Given the description of an element on the screen output the (x, y) to click on. 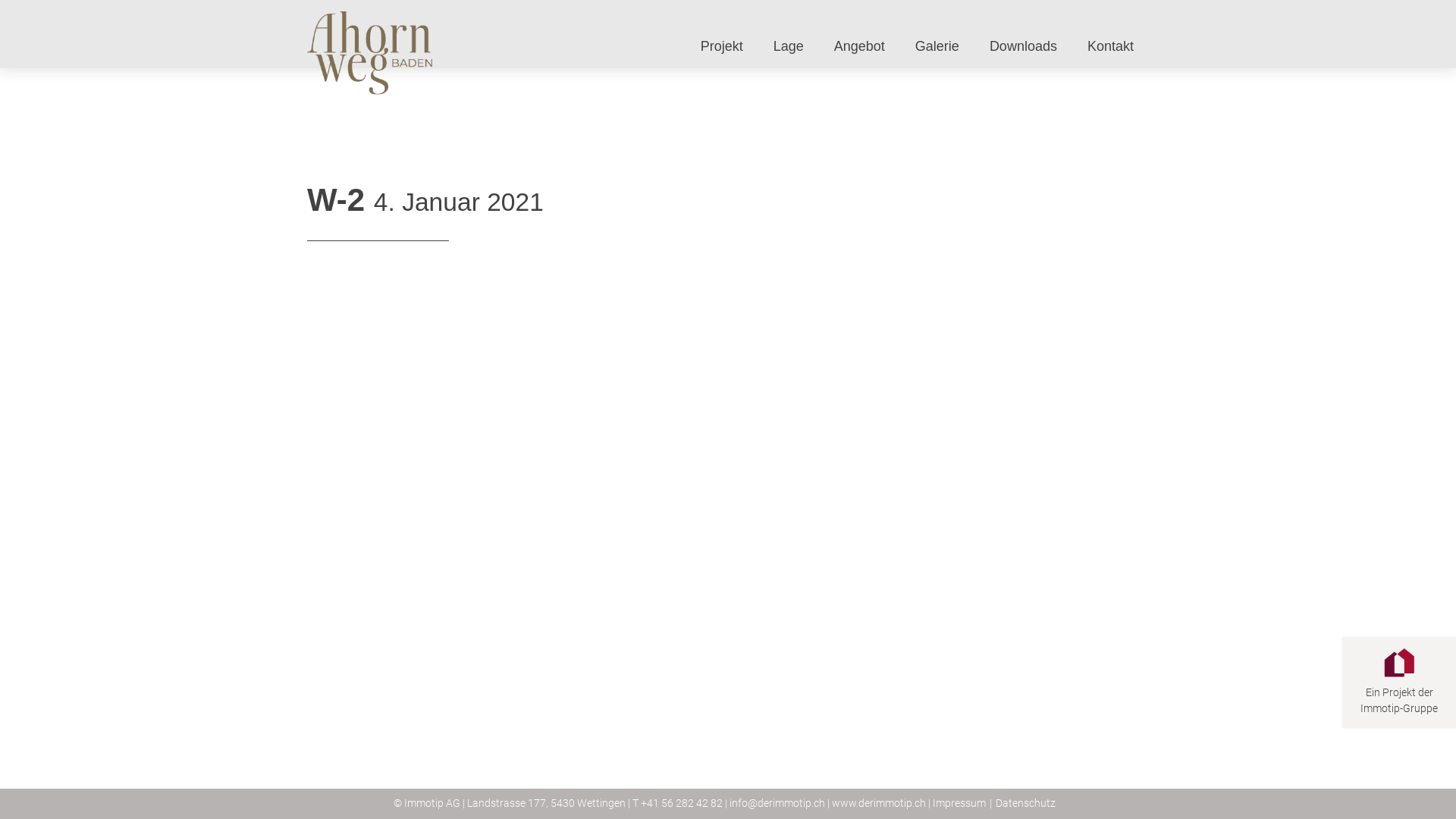
info@derimmotip.ch Element type: text (777, 803)
Datenschutz Element type: text (1024, 801)
T +41 56 282 42 82 | Element type: text (679, 803)
www.derimmotip.ch Element type: text (878, 803)
Impressum Element type: text (958, 801)
